Given the description of an element on the screen output the (x, y) to click on. 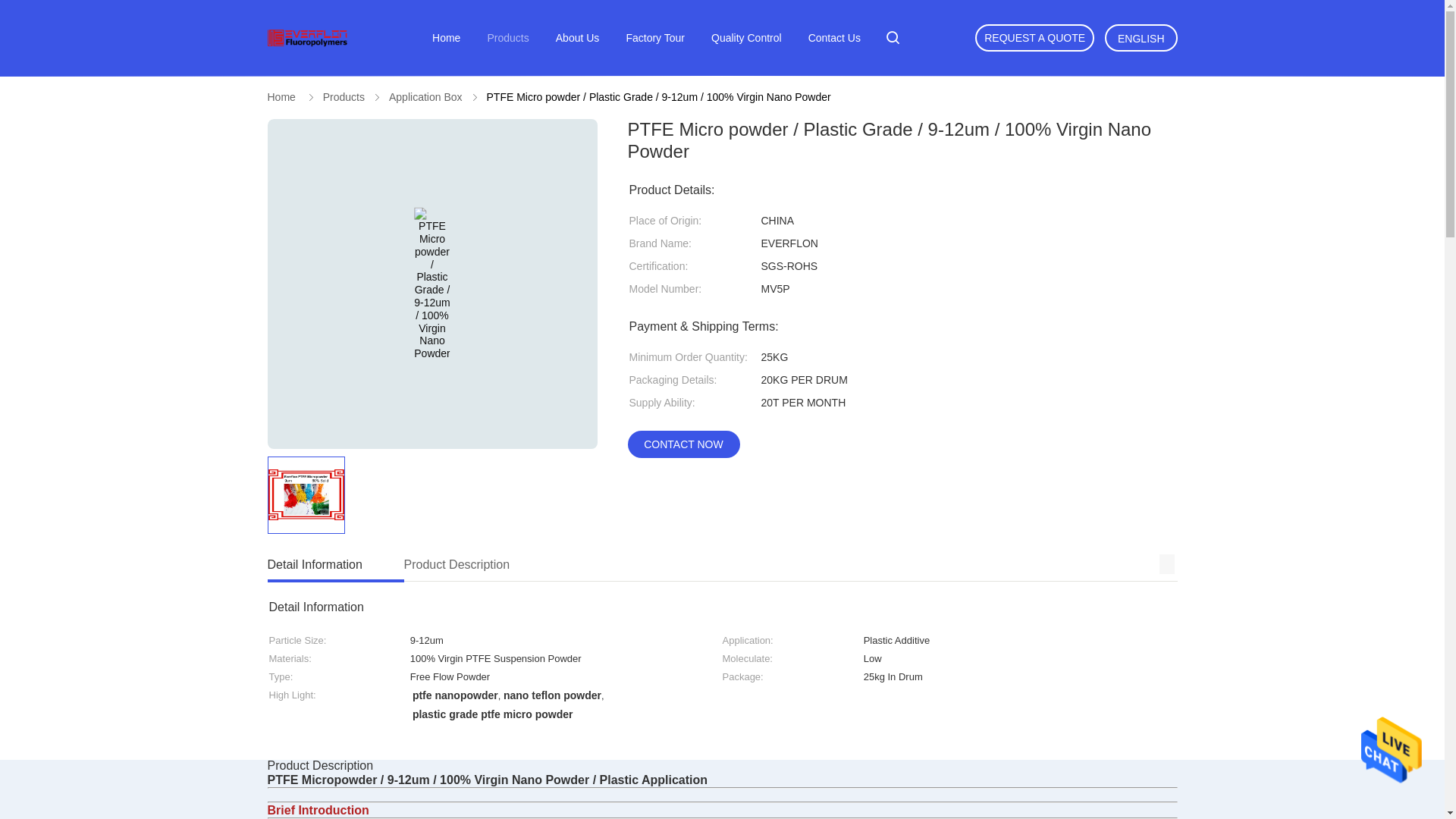
REQUEST A QUOTE (1034, 37)
Quality Control (746, 37)
Products (507, 37)
Home (446, 37)
Factory Tour (655, 37)
Home (280, 96)
About Us (577, 37)
Products (344, 96)
Contact Us (721, 565)
